Given the description of an element on the screen output the (x, y) to click on. 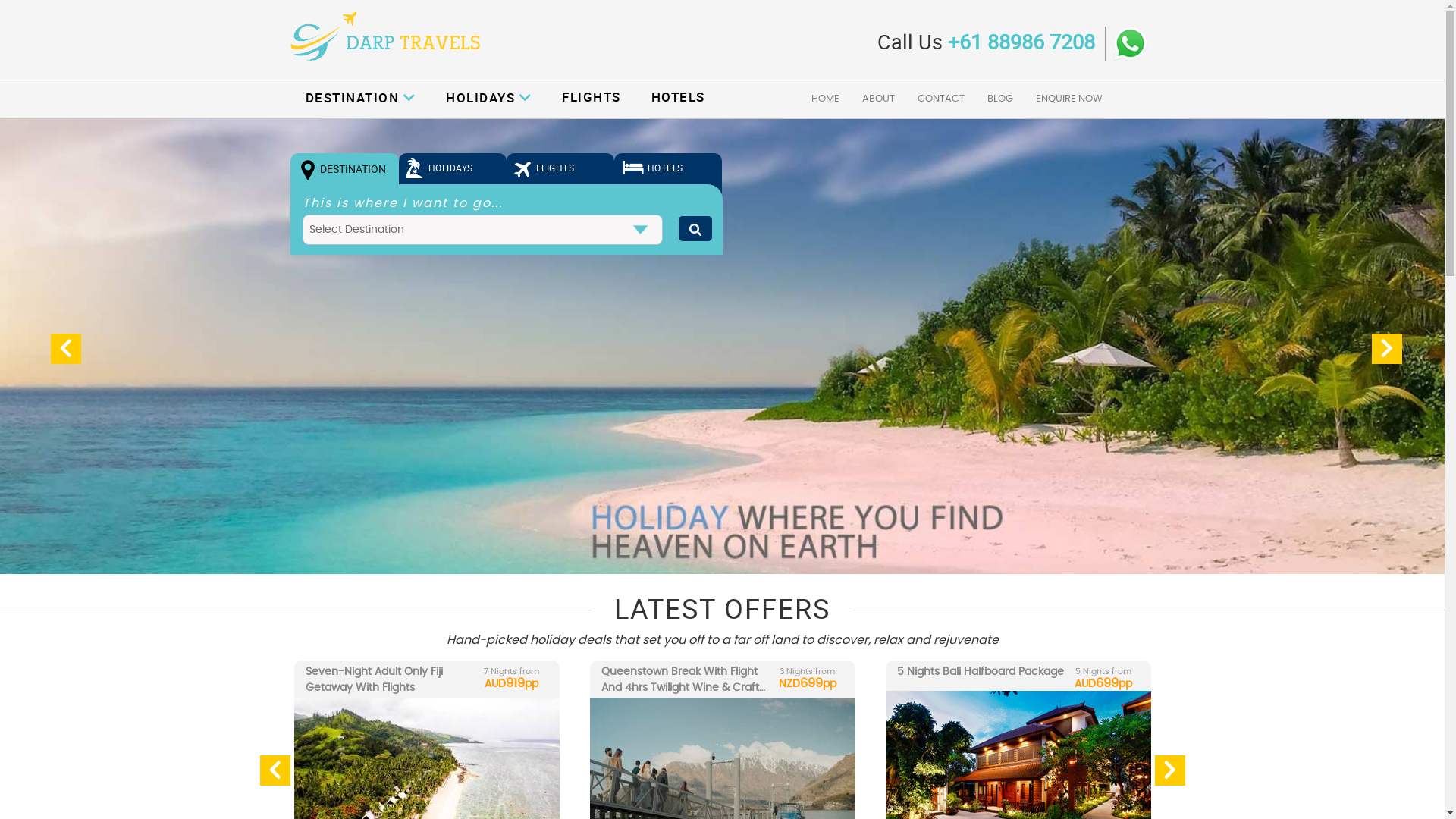
CONTACT Element type: text (940, 99)
HOLIDAYS Element type: text (488, 97)
ENQUIRE NOW Element type: text (1068, 99)
DESTINATION Element type: text (359, 97)
DESTINATION Element type: text (343, 176)
ABOUT Element type: text (878, 99)
FLIGHTS Element type: text (591, 96)
HOLIDAYS Element type: text (452, 176)
FLIGHTS Element type: text (560, 176)
+61 88986 7208 Element type: text (1021, 41)
HOTELS Element type: text (677, 96)
Luxury Holiday Packages Element type: hover (722, 346)
BLOG Element type: text (999, 99)
HOTELS Element type: text (667, 176)
HOME Element type: text (825, 99)
